Given the description of an element on the screen output the (x, y) to click on. 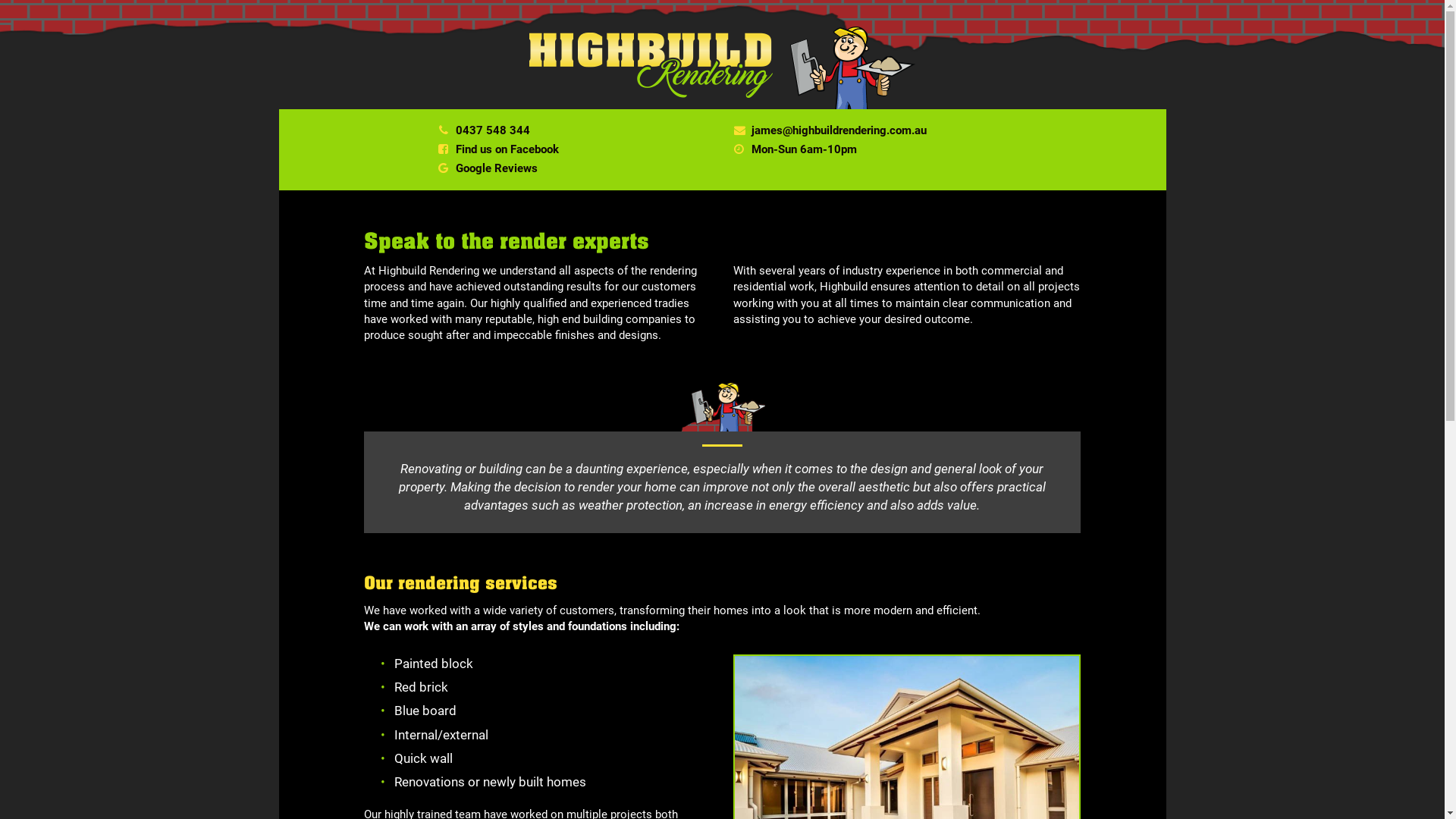
Find us on Facebook Element type: text (506, 149)
0437 548 344 Element type: text (492, 130)
james@highbuildrendering.com.au Element type: text (838, 130)
Google Reviews Element type: text (496, 168)
